Given the description of an element on the screen output the (x, y) to click on. 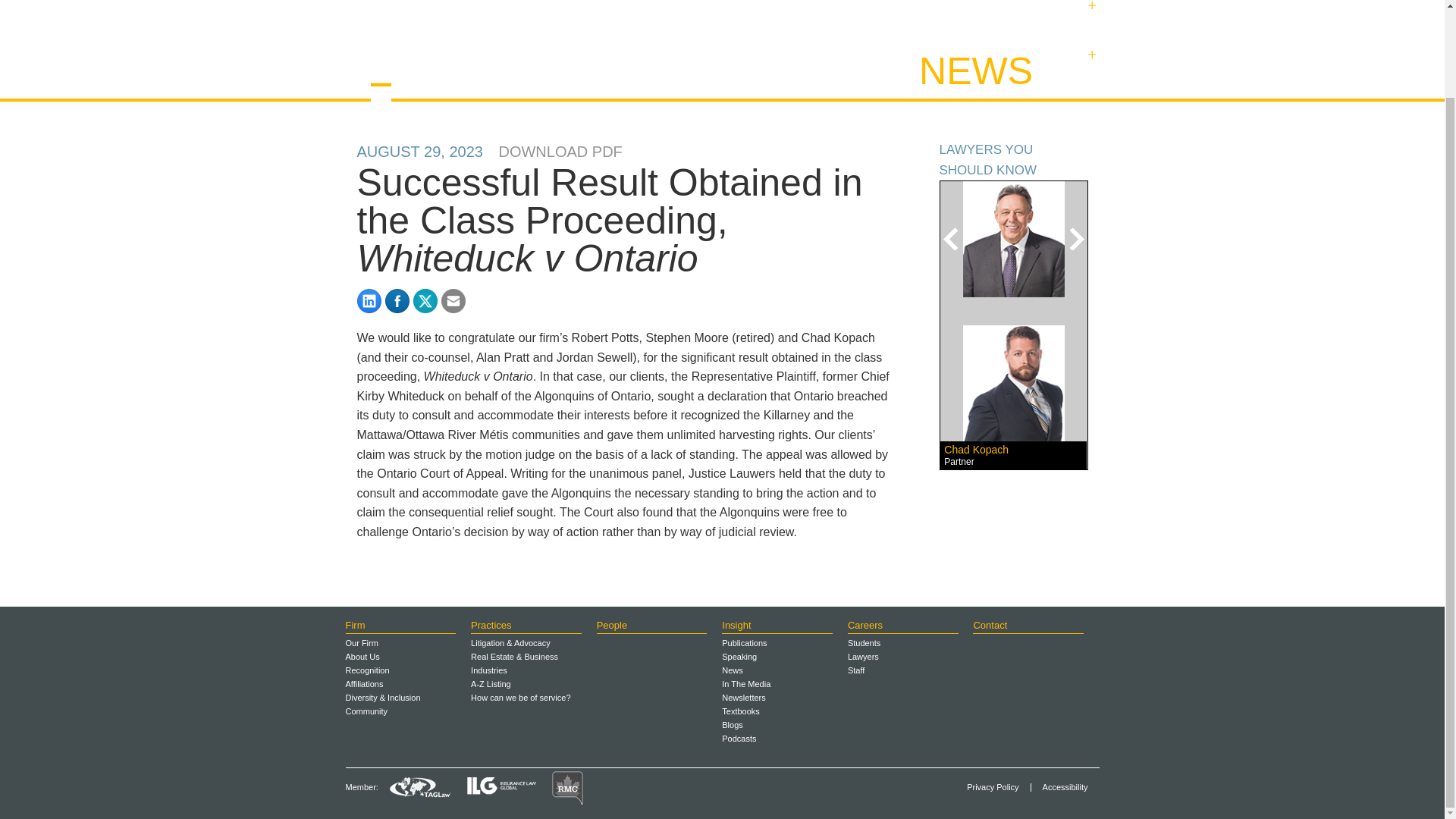
Social (1090, 15)
NEWS (975, 70)
Share to Twitter (424, 300)
Share to LinkedIn (368, 300)
Share to Facebook (397, 300)
Link to Home Page (440, 56)
News (1090, 60)
